Given the description of an element on the screen output the (x, y) to click on. 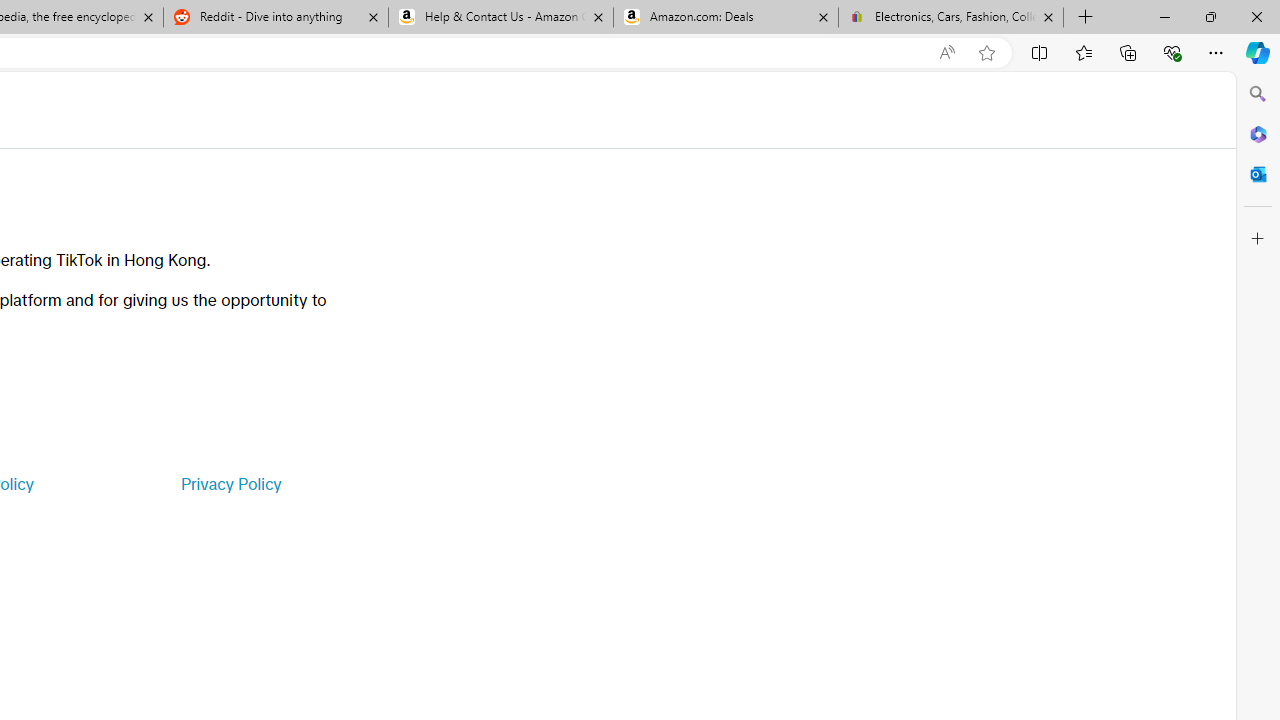
Amazon.com: Deals (726, 17)
Privacy Policy (230, 484)
